Given the description of an element on the screen output the (x, y) to click on. 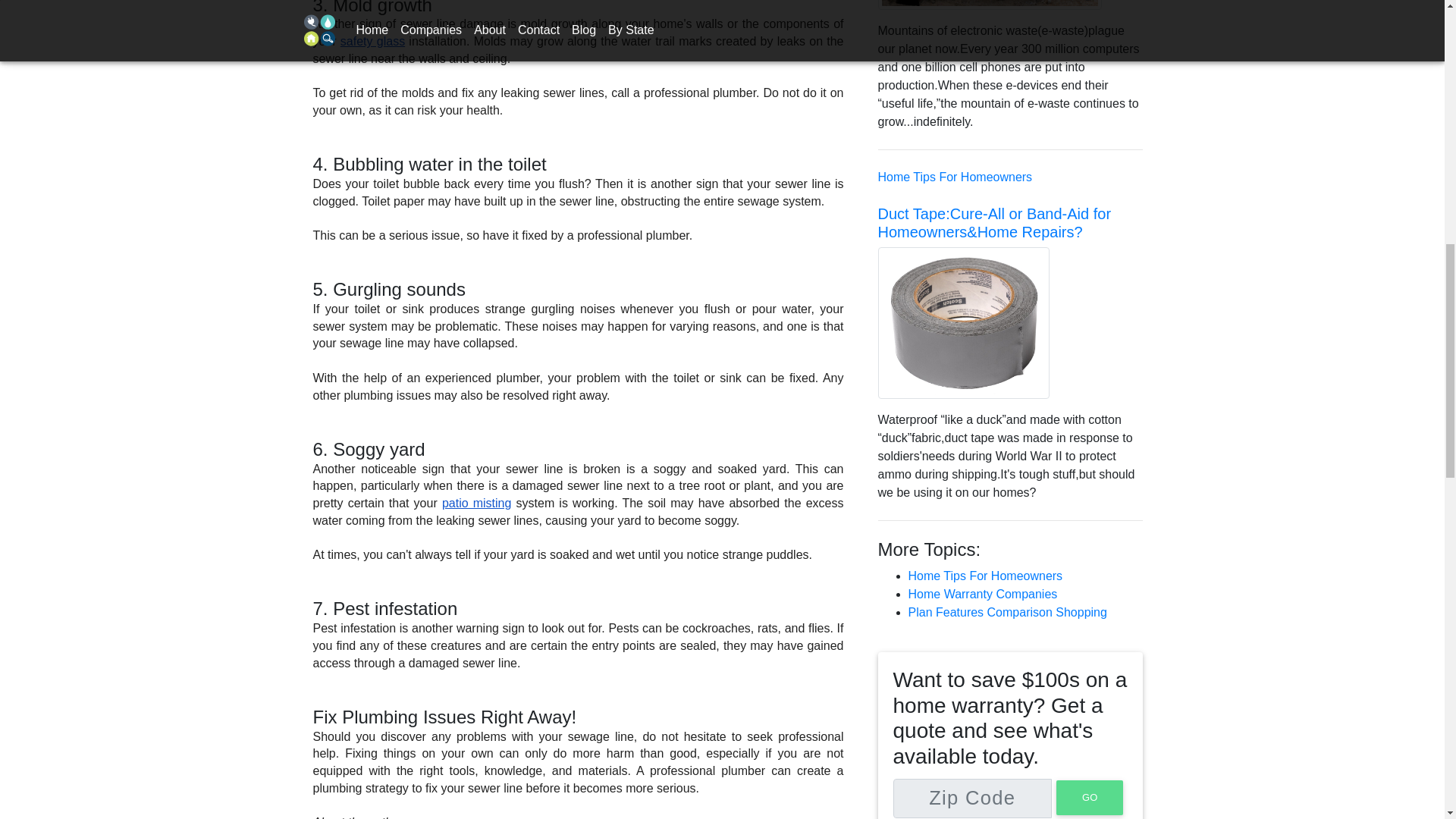
patio misting (477, 502)
Home Tips For Homeowners (954, 176)
safety glass (372, 41)
Plan Features Comparison Shopping (1007, 612)
GO (1090, 797)
Home Warranty Companies (983, 594)
Home Tips For Homeowners (985, 575)
